Given the description of an element on the screen output the (x, y) to click on. 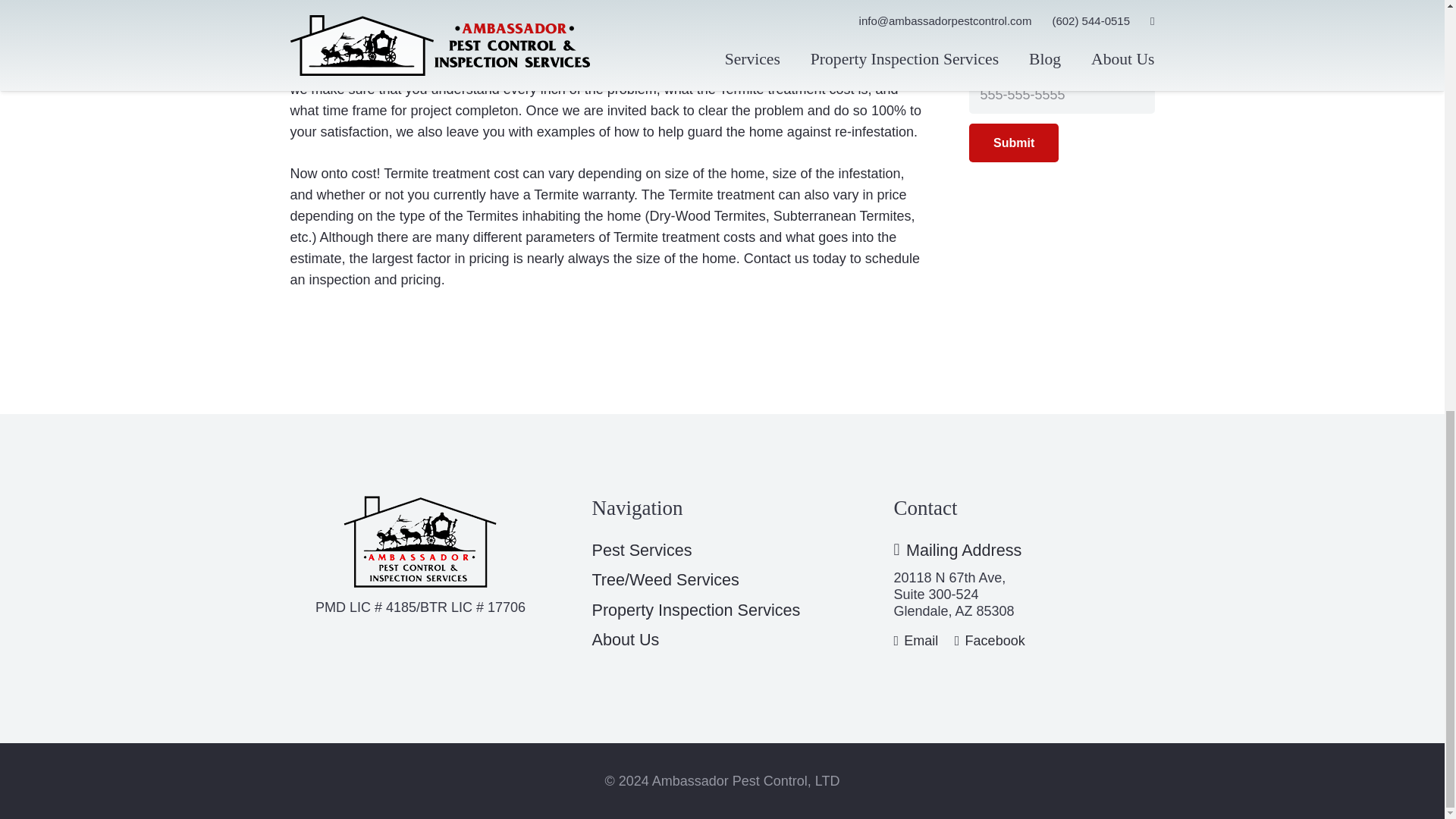
Submit (1013, 142)
Submit (1013, 142)
Pest Services (641, 549)
Back to top (1413, 20)
Email (915, 640)
Facebook (990, 640)
About Us (625, 639)
Property Inspection Services (695, 609)
